Given the description of an element on the screen output the (x, y) to click on. 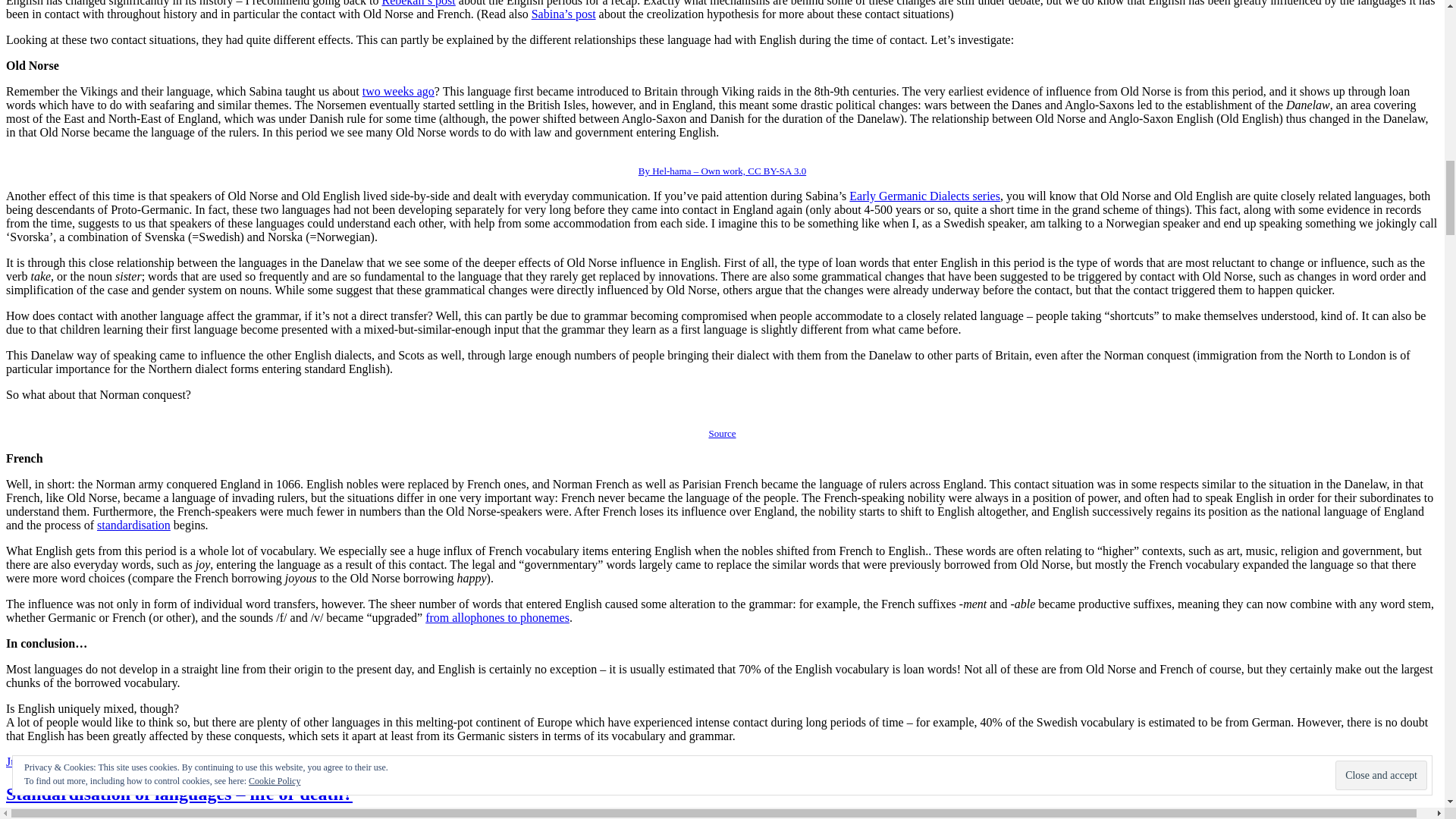
two weeks ago (397, 91)
from allophones to phonemes (497, 617)
Early Germanic Dialects series (924, 195)
standardisation (133, 524)
July 19, 2018July 19, 2018 (70, 761)
Source (721, 432)
